Given the description of an element on the screen output the (x, y) to click on. 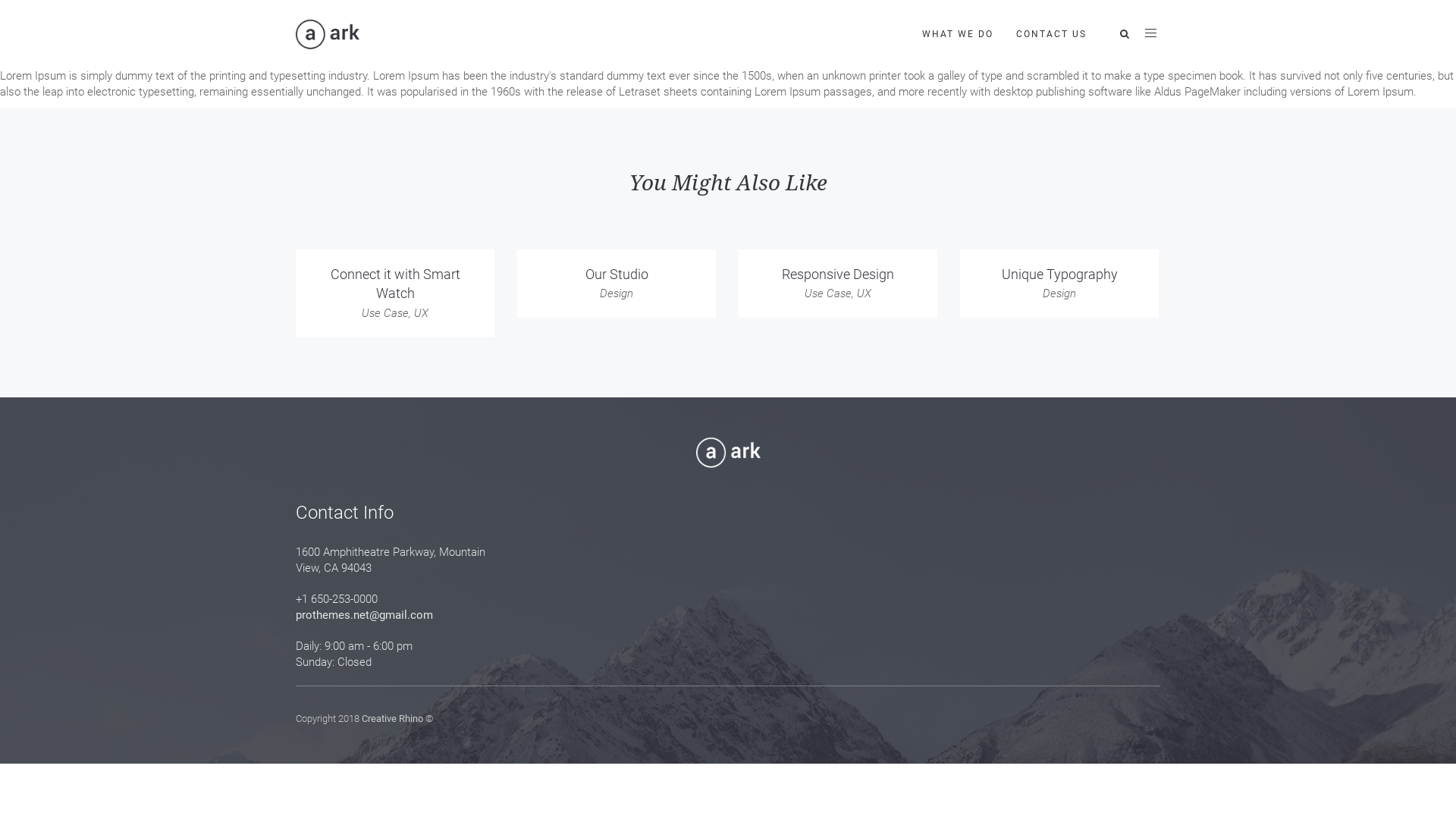
CONTACT US Element type: text (1051, 34)
Unique Typography Element type: text (1059, 274)
WHAT WE DO Element type: text (957, 34)
Creative Rhino Element type: text (392, 718)
Connect it with Smart Watch Element type: text (395, 283)
Our Studio Element type: text (616, 274)
prothemes.net@gmail.com Element type: text (364, 614)
Responsive Design Element type: text (837, 274)
